Given the description of an element on the screen output the (x, y) to click on. 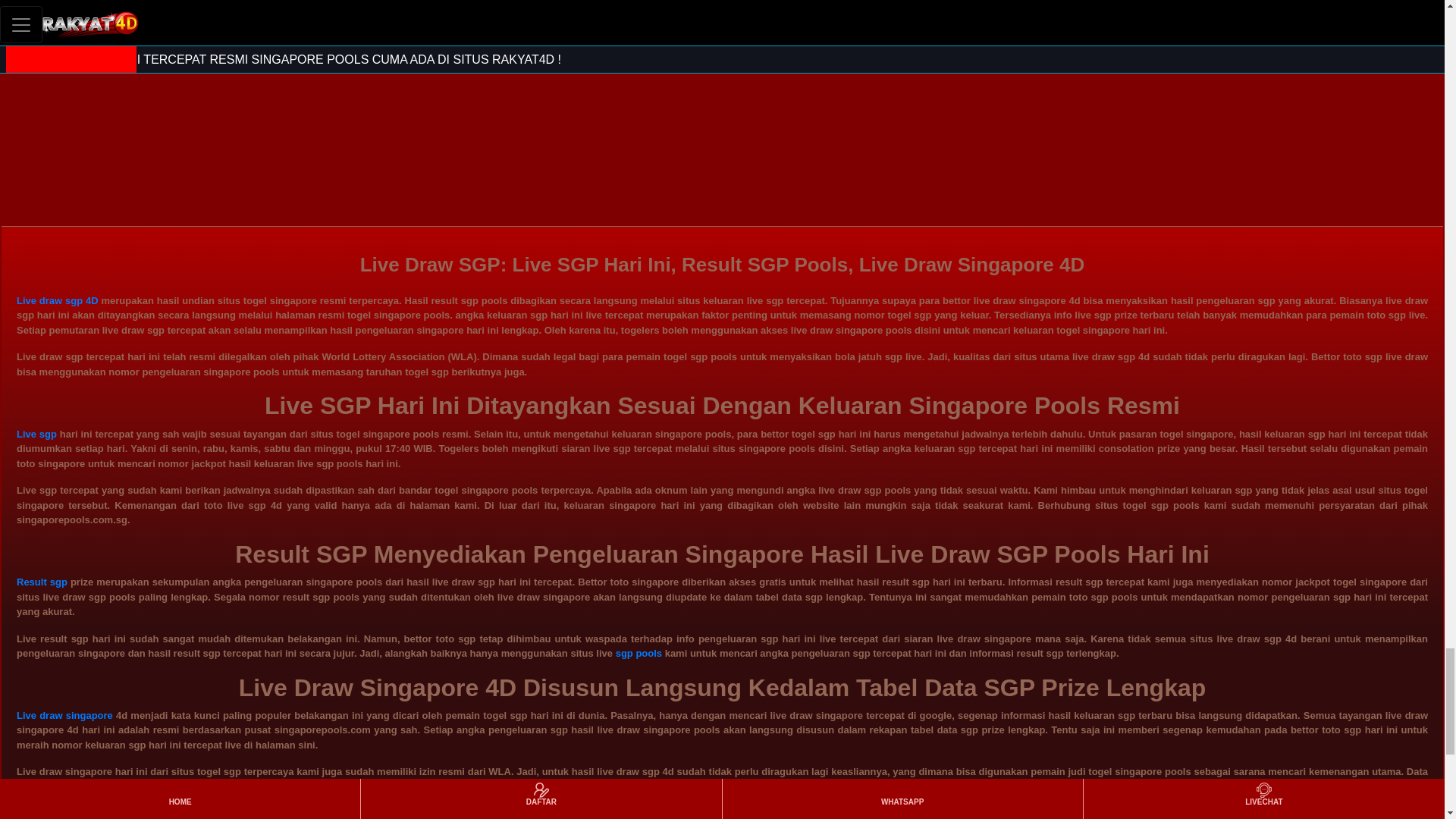
Result sgp (41, 582)
Live sgp (36, 433)
sgp pools (638, 653)
Live draw singapore (64, 715)
Live draw sgp 4D (57, 300)
